Given the description of an element on the screen output the (x, y) to click on. 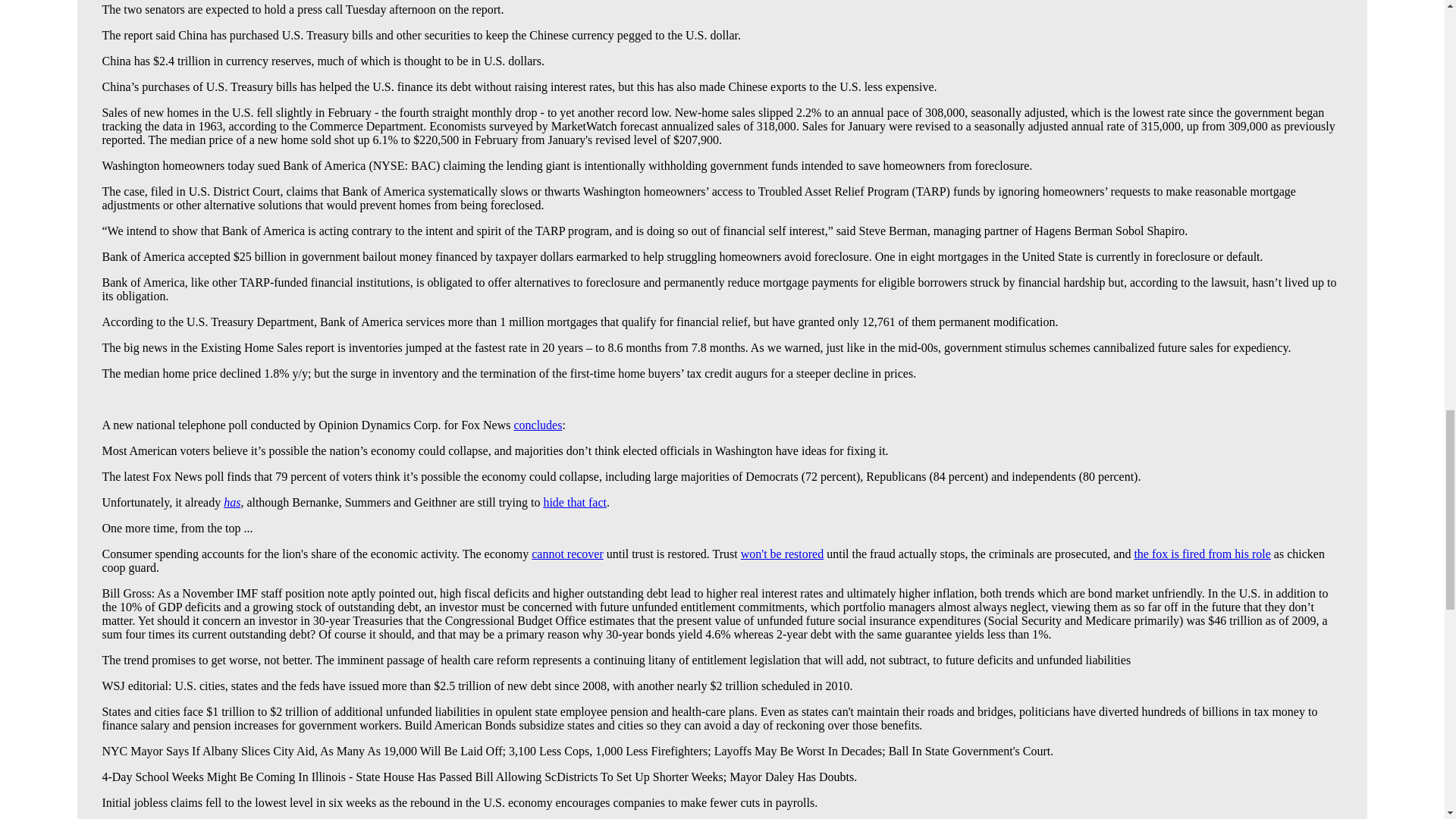
cannot recover (567, 553)
hide that fact (575, 502)
has (232, 502)
the fox is fired from his role (1201, 553)
concludes (537, 424)
won't be restored (782, 553)
